Given the description of an element on the screen output the (x, y) to click on. 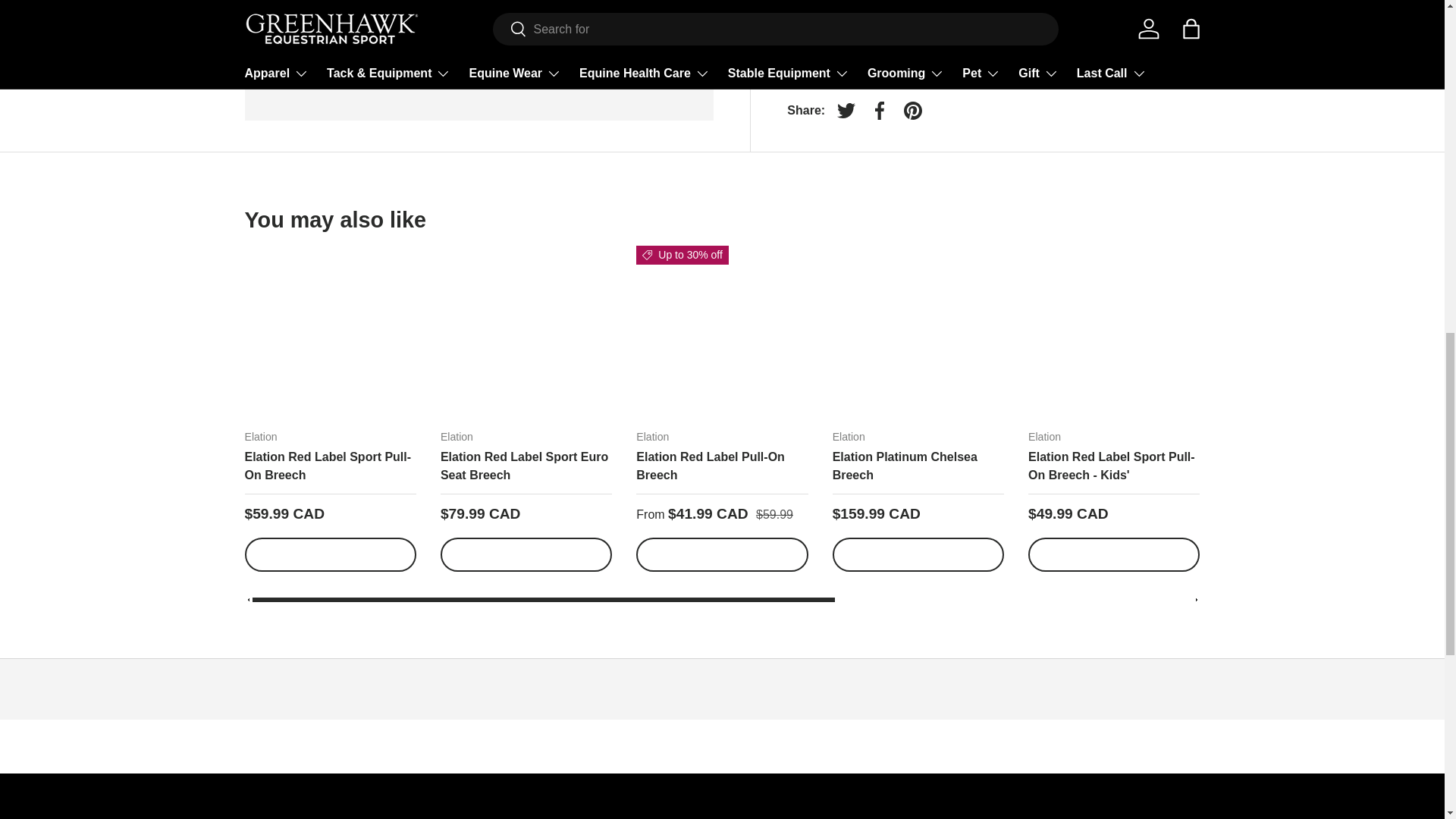
1 (847, 30)
